Given the description of an element on the screen output the (x, y) to click on. 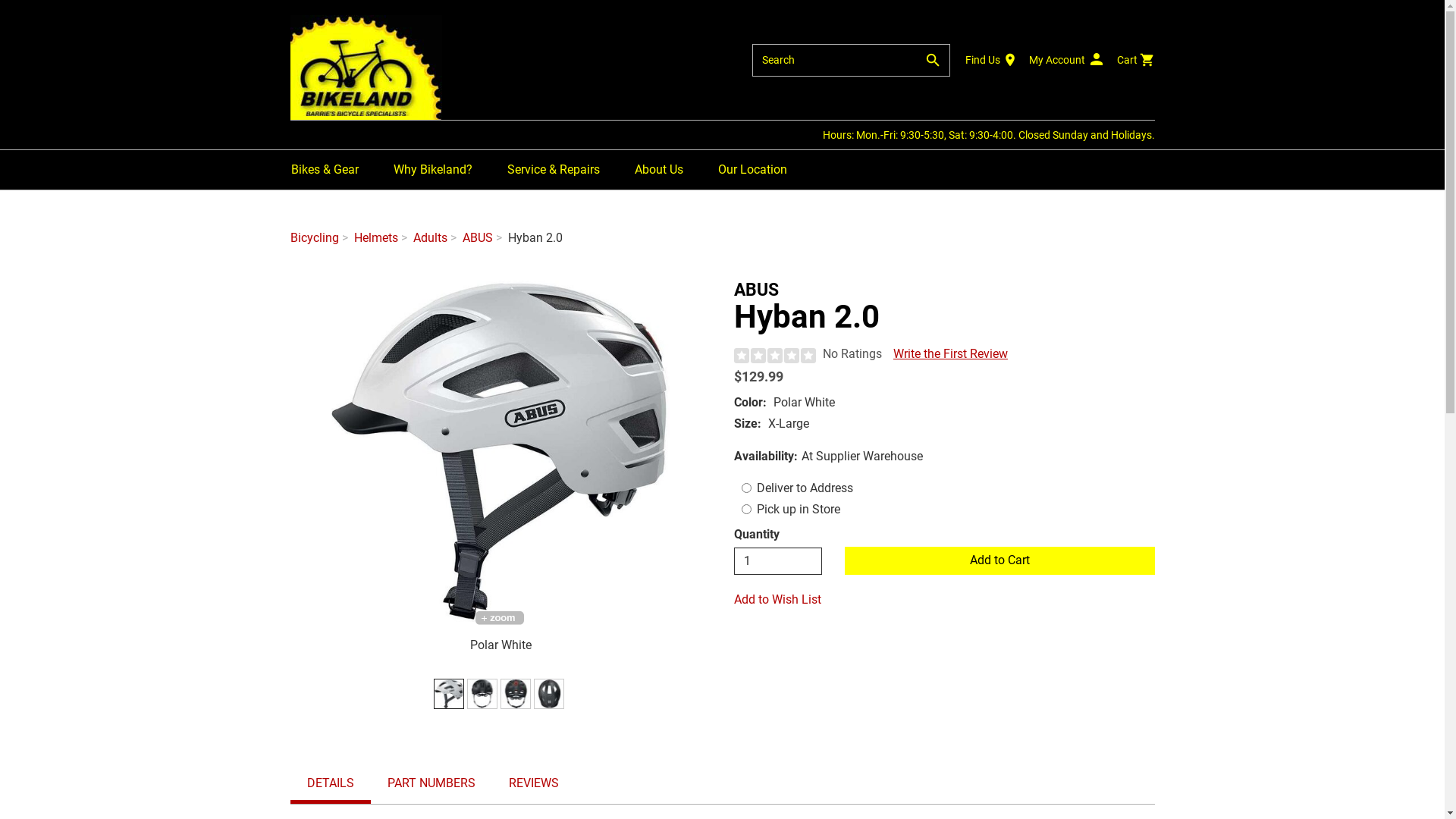
Our Location Element type: text (751, 169)
Adults Element type: text (429, 237)
Add to Wish List Element type: text (944, 599)
Search Element type: hover (834, 59)
ABUS Hyban 2.0 Polar White Element type: hover (500, 450)
ABUS Element type: text (477, 237)
Find Us
Store Element type: text (990, 59)
Write the First Review Element type: text (950, 353)
Add to Cart Element type: text (999, 560)
Bikes & Gear Element type: text (324, 169)
Color: Polar White Element type: hover (448, 693)
Service & Repairs Element type: text (552, 169)
Search Element type: text (931, 59)
My Account
My Account Element type: text (1066, 59)
Bikeland Home Page Element type: hover (365, 66)
PART NUMBERS Element type: text (430, 783)
Why Bikeland? Element type: text (432, 169)
Bicycling Element type: text (313, 237)
Helmets Element type: text (375, 237)
DETAILS Element type: text (329, 783)
About Us Element type: text (658, 169)
Cart
Cart Element type: text (1135, 59)
REVIEWS Element type: text (532, 783)
